Given the description of an element on the screen output the (x, y) to click on. 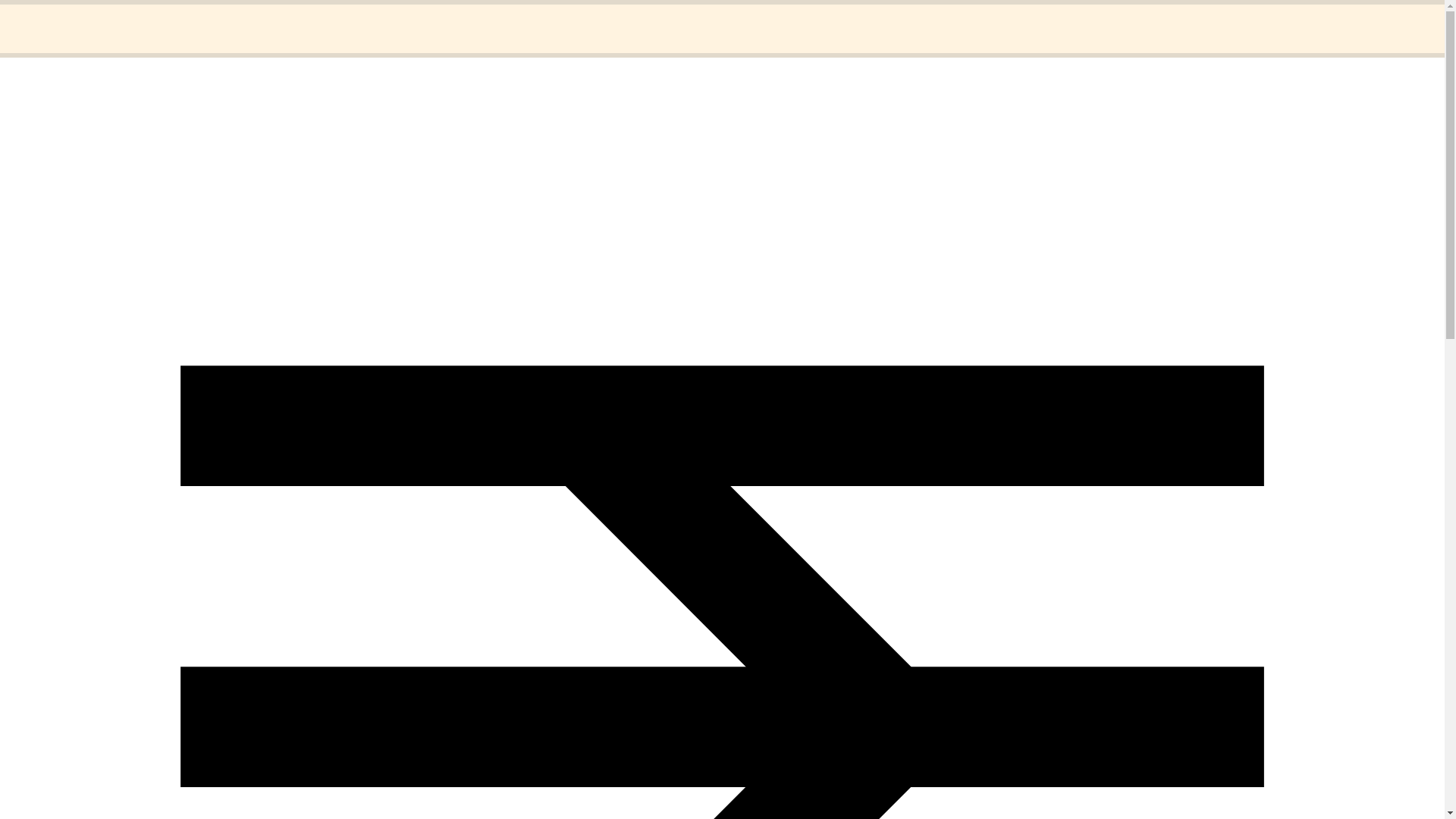
Home (50, 18)
